Given the description of an element on the screen output the (x, y) to click on. 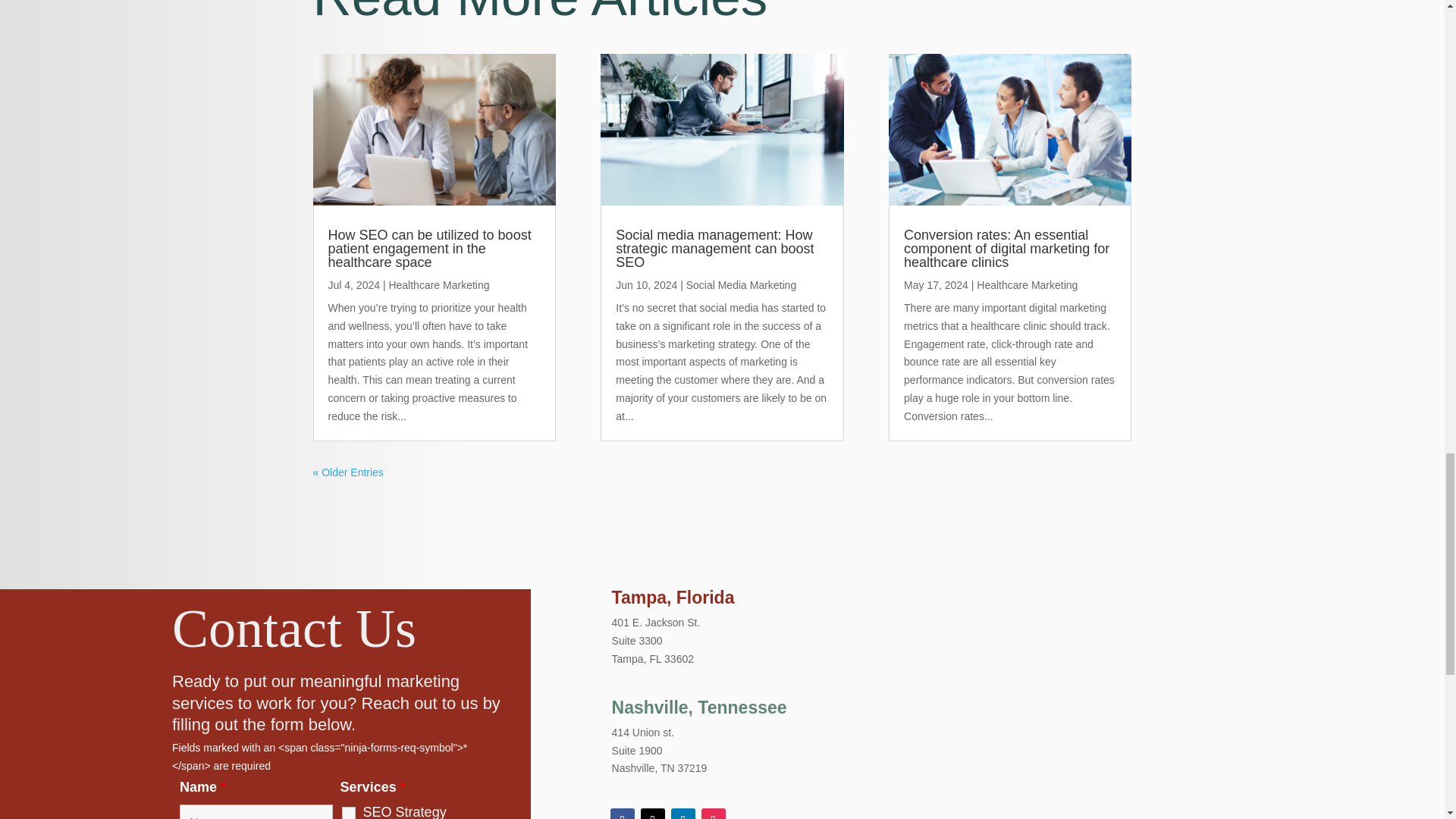
Follow on LinkedIn (683, 813)
Healthcare Marketing (438, 285)
Follow on Instagram (713, 813)
Follow on Facebook (622, 813)
Follow on X (652, 813)
